Given the description of an element on the screen output the (x, y) to click on. 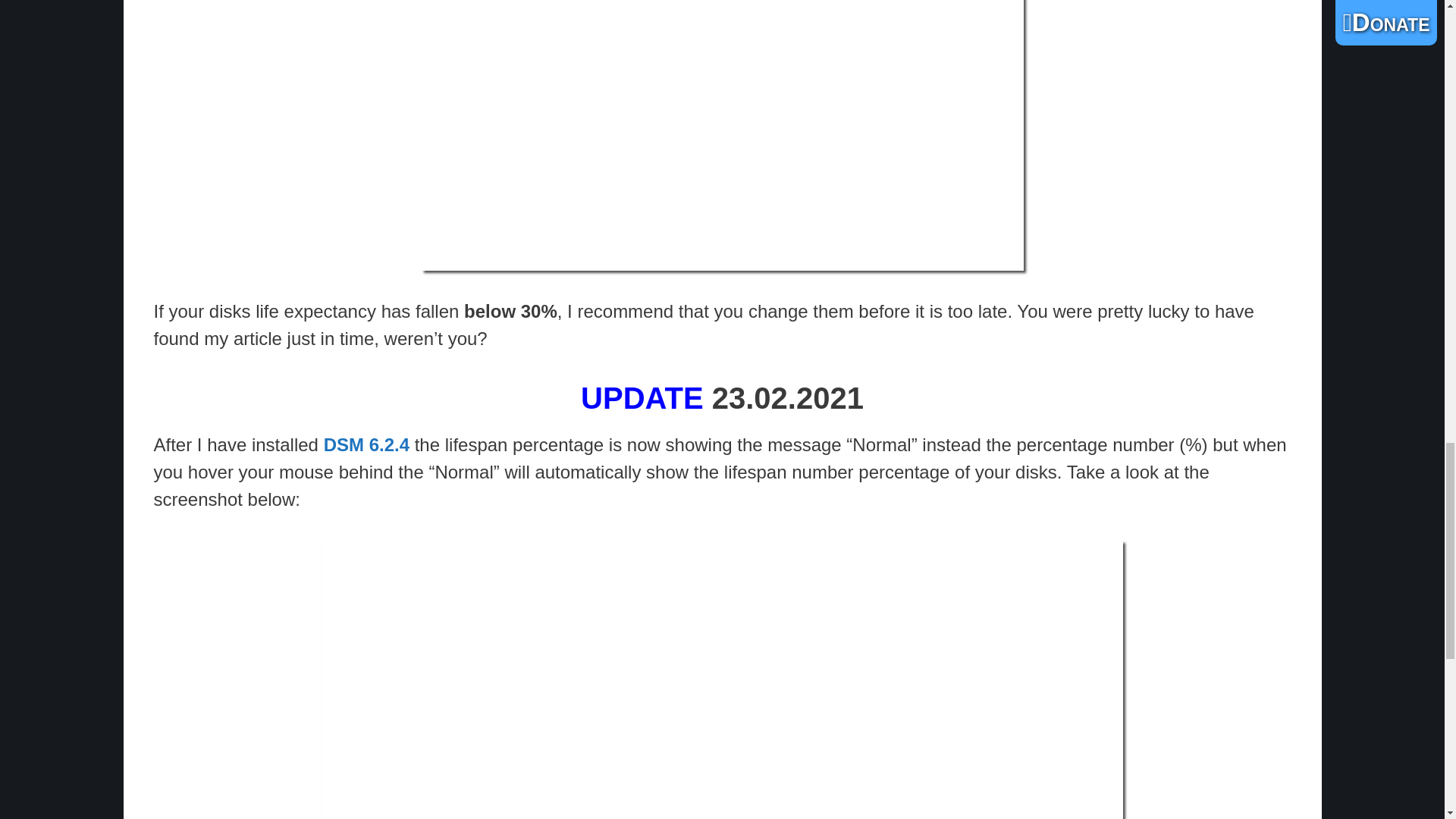
DSM 6.2.4 (366, 444)
